Given the description of an element on the screen output the (x, y) to click on. 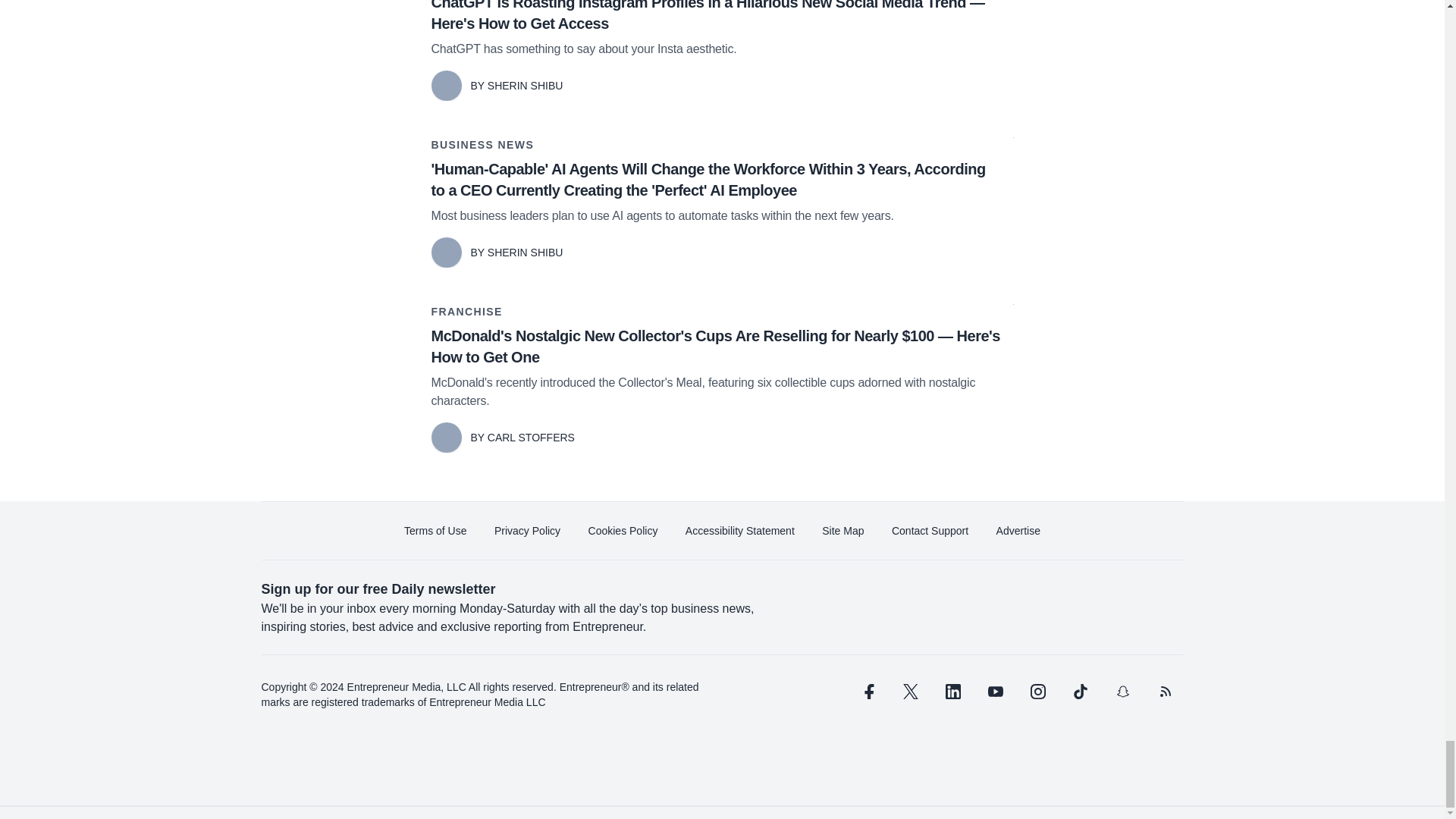
instagram (1037, 691)
tiktok (1079, 691)
twitter (909, 691)
youtube (994, 691)
linkedin (952, 691)
snapchat (1121, 691)
facebook (866, 691)
rss (1164, 691)
